Given the description of an element on the screen output the (x, y) to click on. 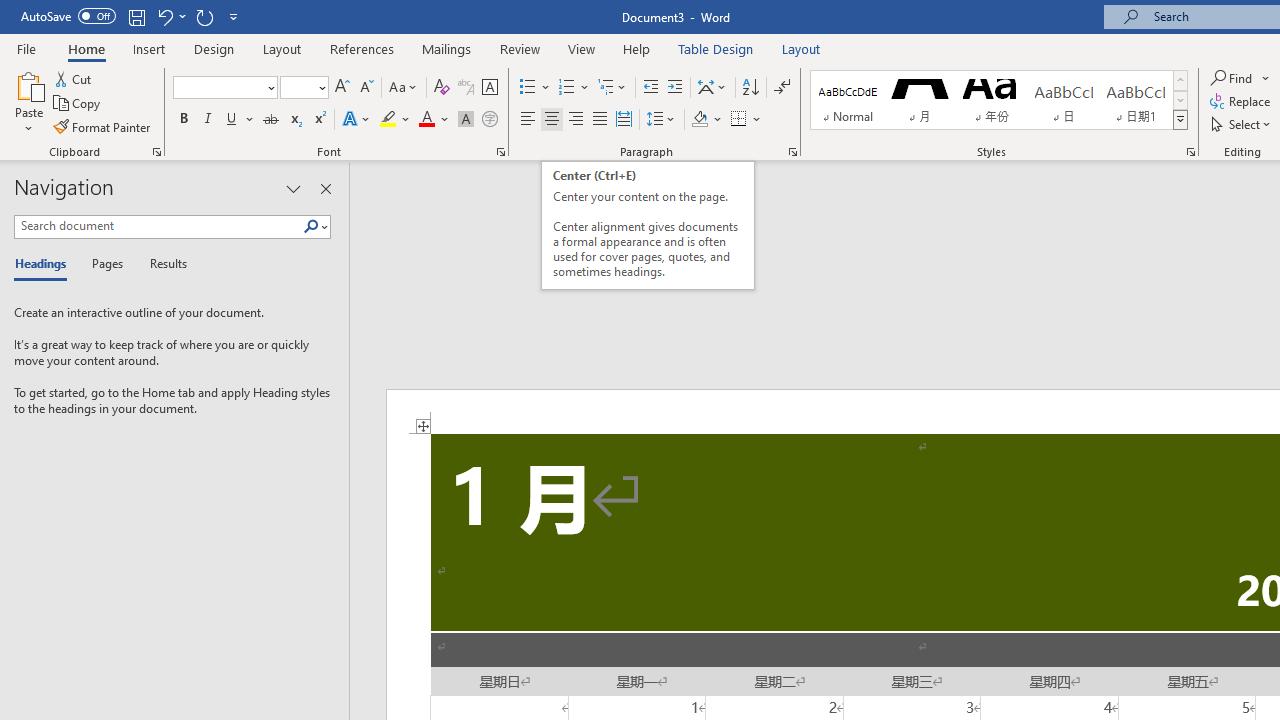
Cut (73, 78)
Show/Hide Editing Marks (781, 87)
Align Right (575, 119)
Justify (599, 119)
Subscript (294, 119)
Text Highlight Color (395, 119)
Character Shading (465, 119)
Change Case (404, 87)
Select (1242, 124)
Undo Apply Quick Style (164, 15)
